Given the description of an element on the screen output the (x, y) to click on. 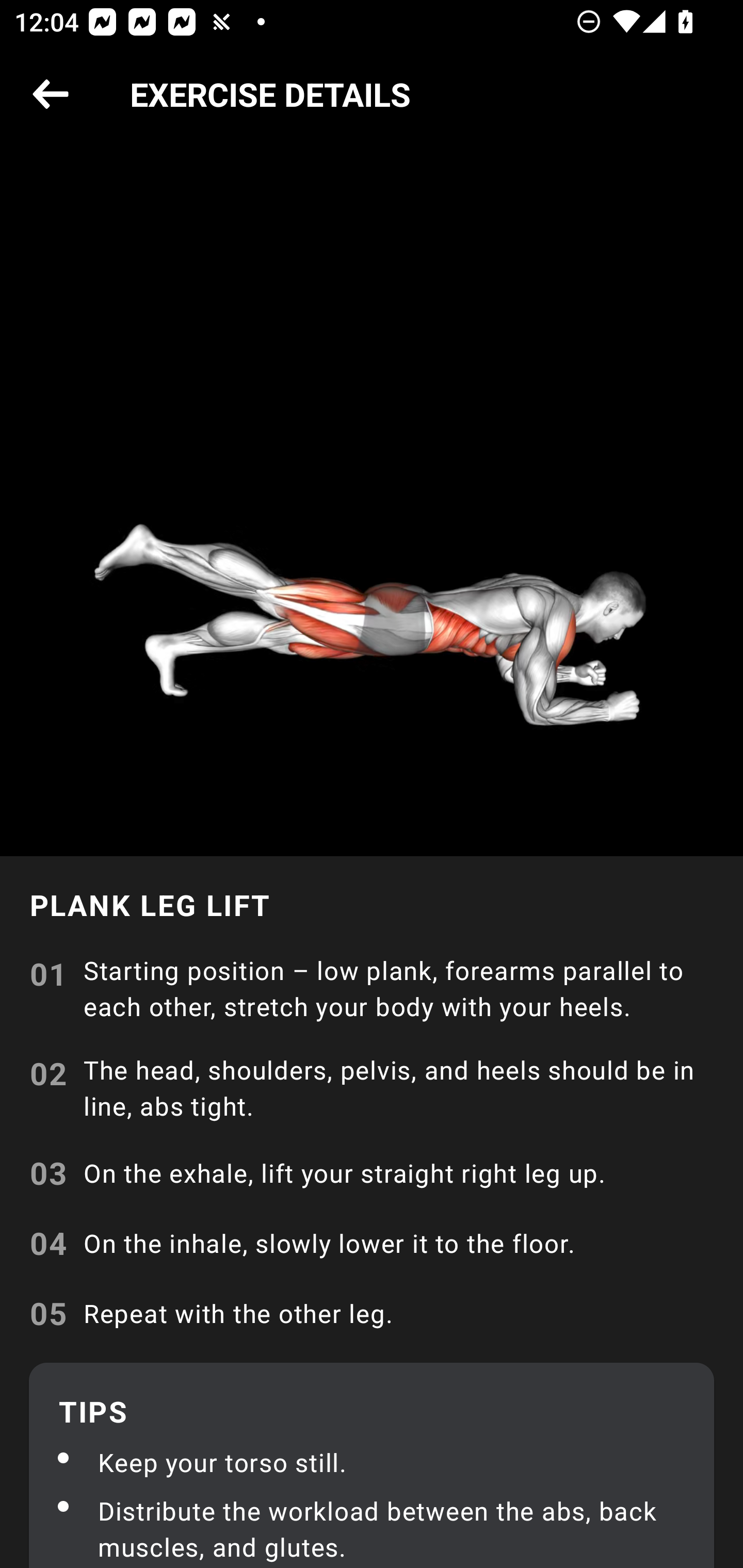
Back Icon (50, 94)
